Given the description of an element on the screen output the (x, y) to click on. 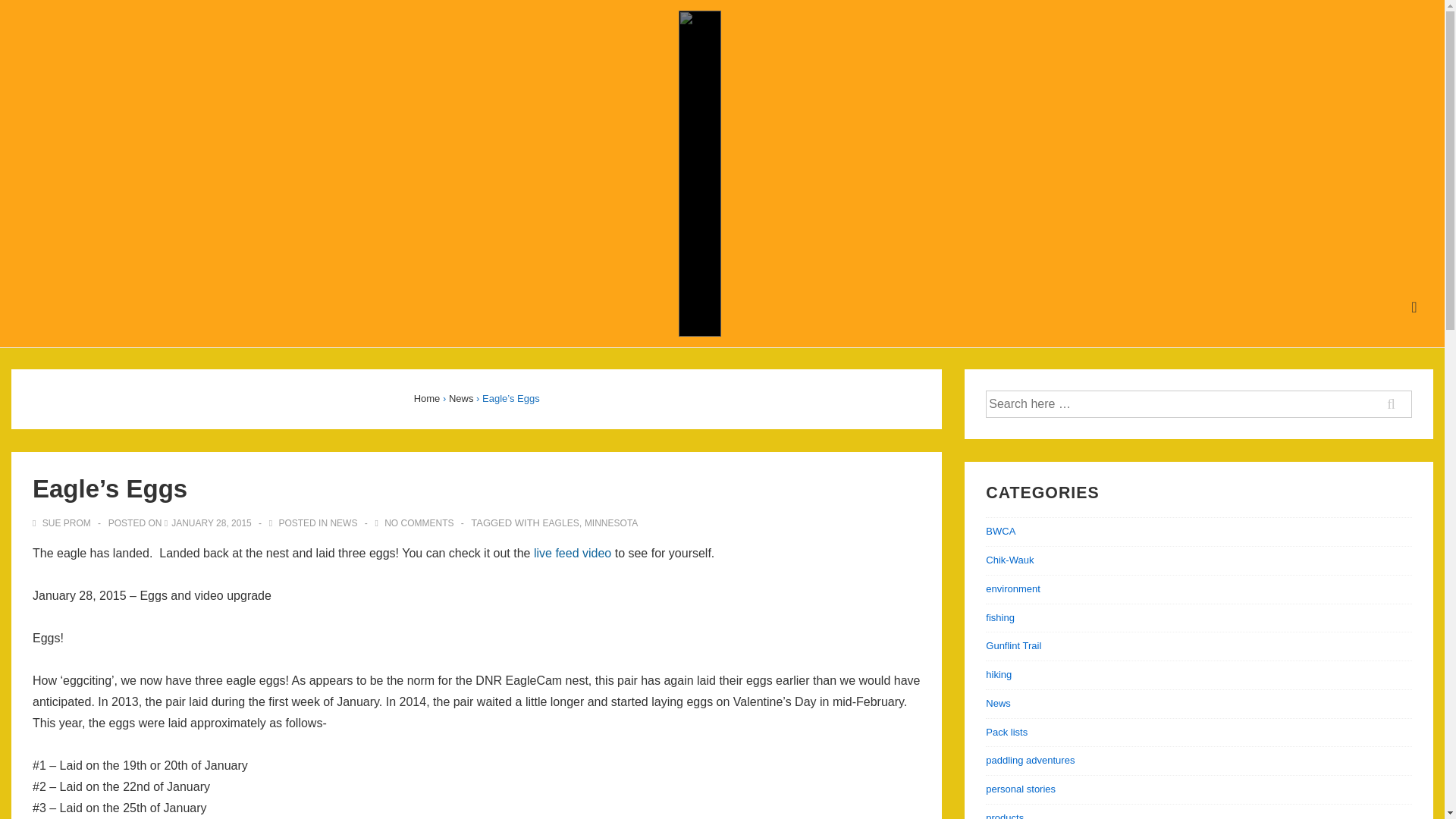
EAGLES (561, 522)
BWCA (999, 531)
Home (427, 398)
live feed video (572, 553)
News (997, 703)
JANUARY 28, 2015 (211, 522)
News (461, 398)
MENU (1414, 307)
NO COMMENTS (418, 522)
hiking (998, 674)
